Given the description of an element on the screen output the (x, y) to click on. 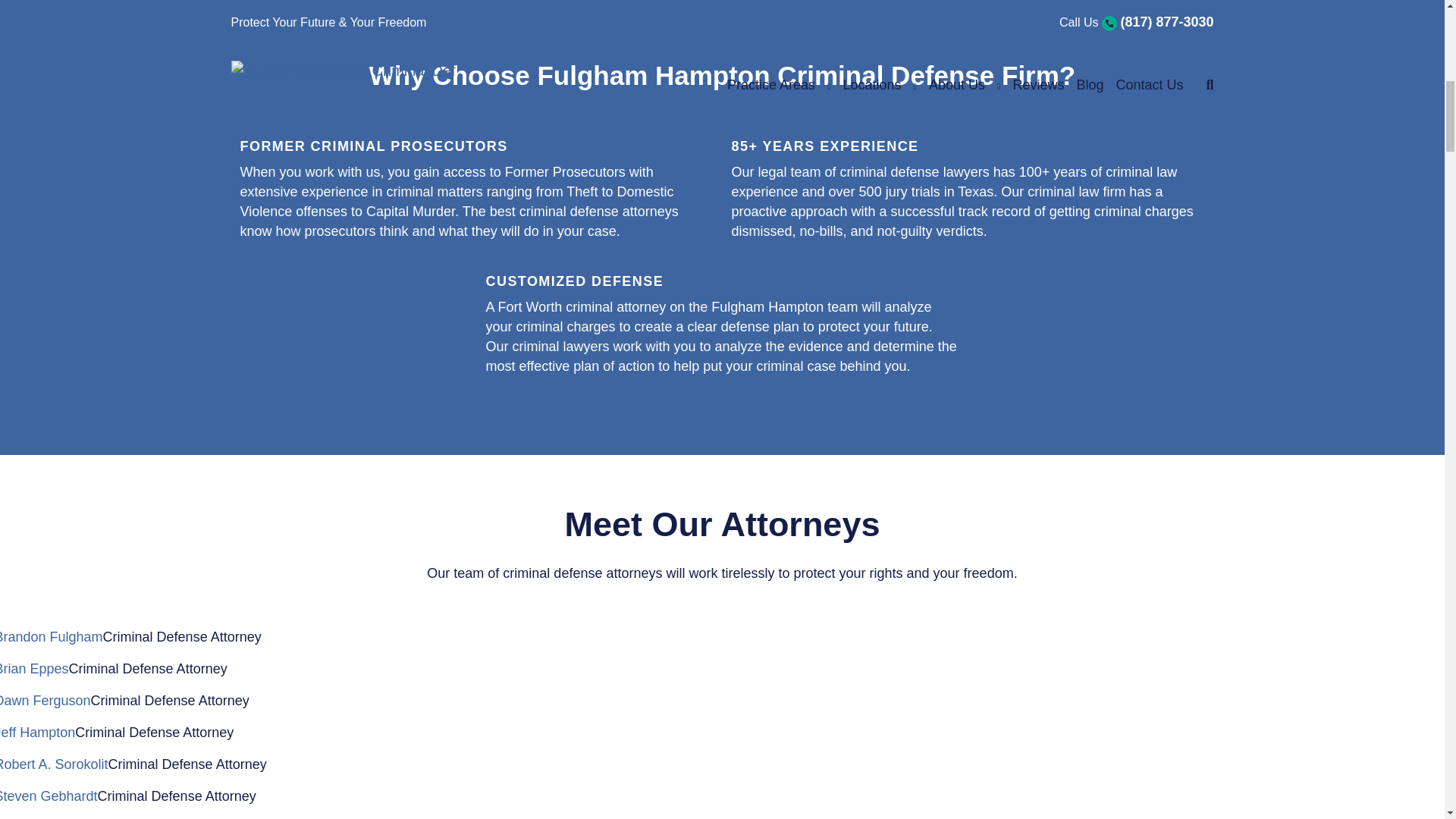
Robert A. Sorokolit (53, 764)
Steven Gebhardt (48, 795)
Brandon Fulgham (50, 636)
Dawn Ferguson (45, 700)
Brian Eppes (34, 668)
Jeff Hampton (37, 732)
